Given the description of an element on the screen output the (x, y) to click on. 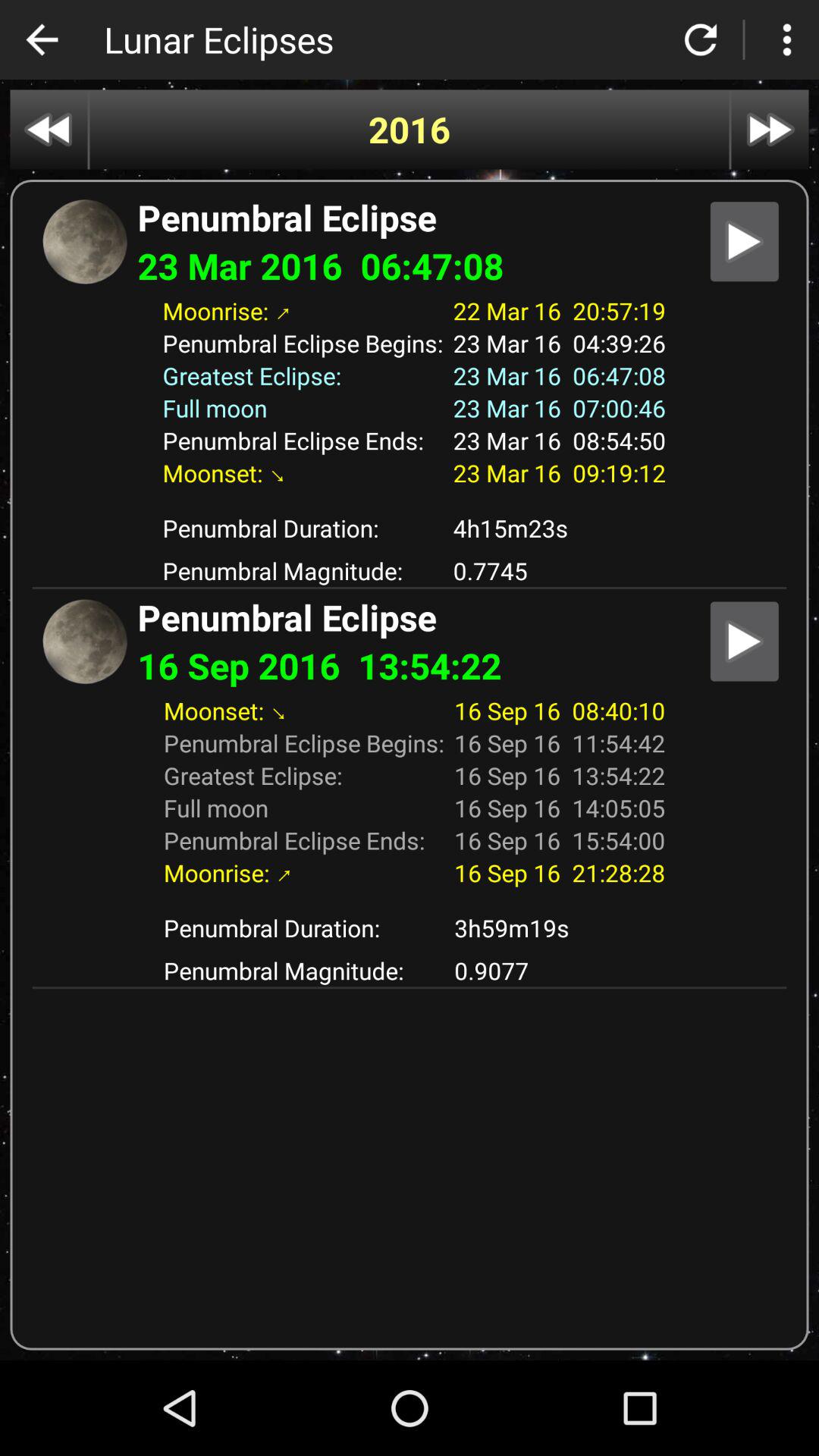
scroll until the 3h59m19s app (559, 927)
